Given the description of an element on the screen output the (x, y) to click on. 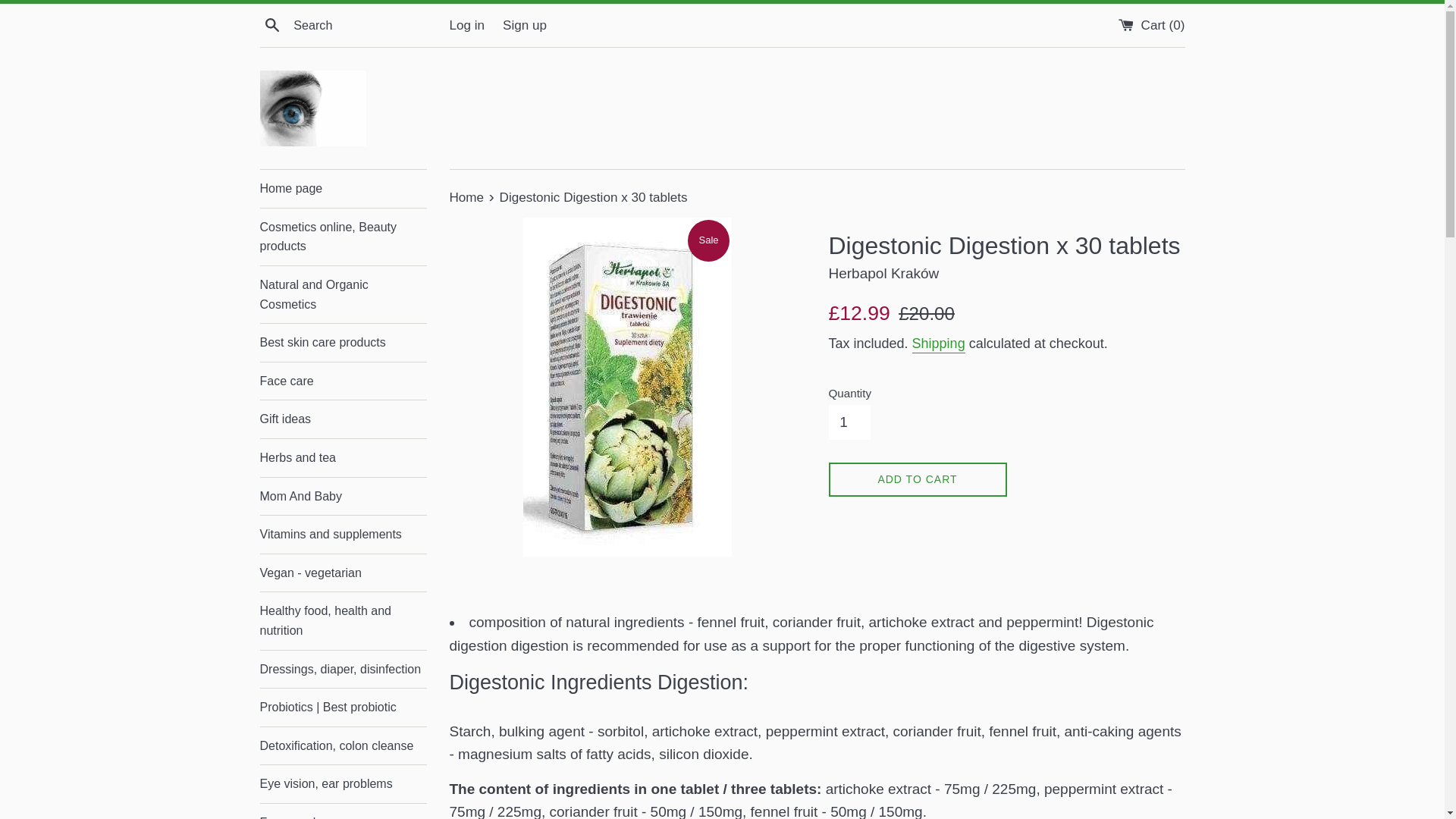
Log in (466, 25)
Herbs and tea (342, 457)
Back to the frontpage (467, 197)
Healthy food, health and nutrition (342, 620)
Natural and Organic Cosmetics (342, 294)
Vitamins and supplements (342, 534)
Detoxification, colon cleanse (342, 745)
Face care (342, 381)
Eye vision, ear problems (342, 783)
Mom And Baby (342, 496)
